Given the description of an element on the screen output the (x, y) to click on. 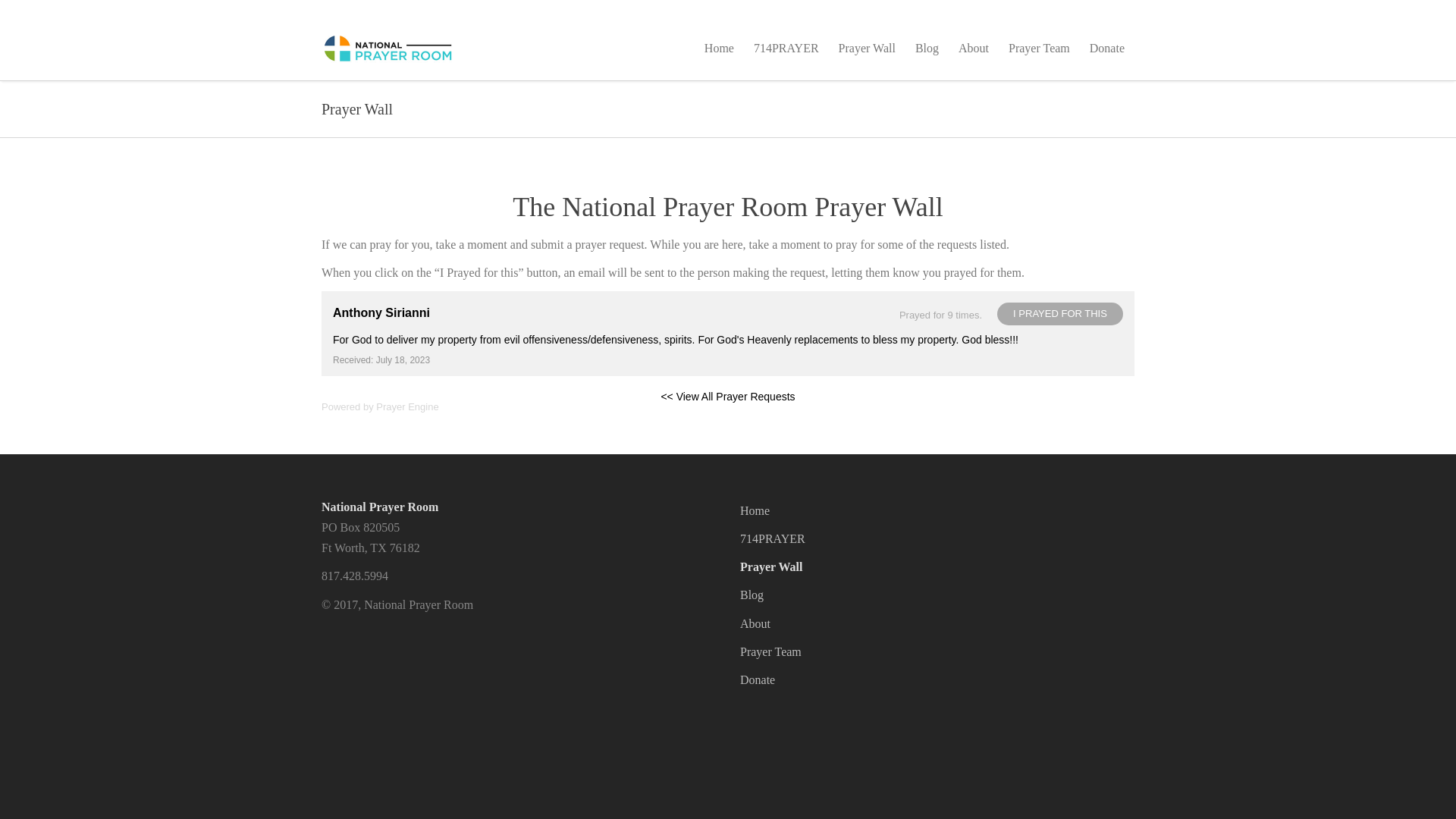
Prayer Team (1039, 47)
About (754, 623)
Home (754, 510)
714PRAYER (772, 538)
714PRAYER (786, 47)
Prayer Engine (406, 406)
Blog (750, 594)
Prayer Wall (771, 566)
I PRAYED FOR THIS (1059, 313)
Donate (756, 679)
Prayer Wall (866, 47)
Prayer Team (770, 651)
